Given the description of an element on the screen output the (x, y) to click on. 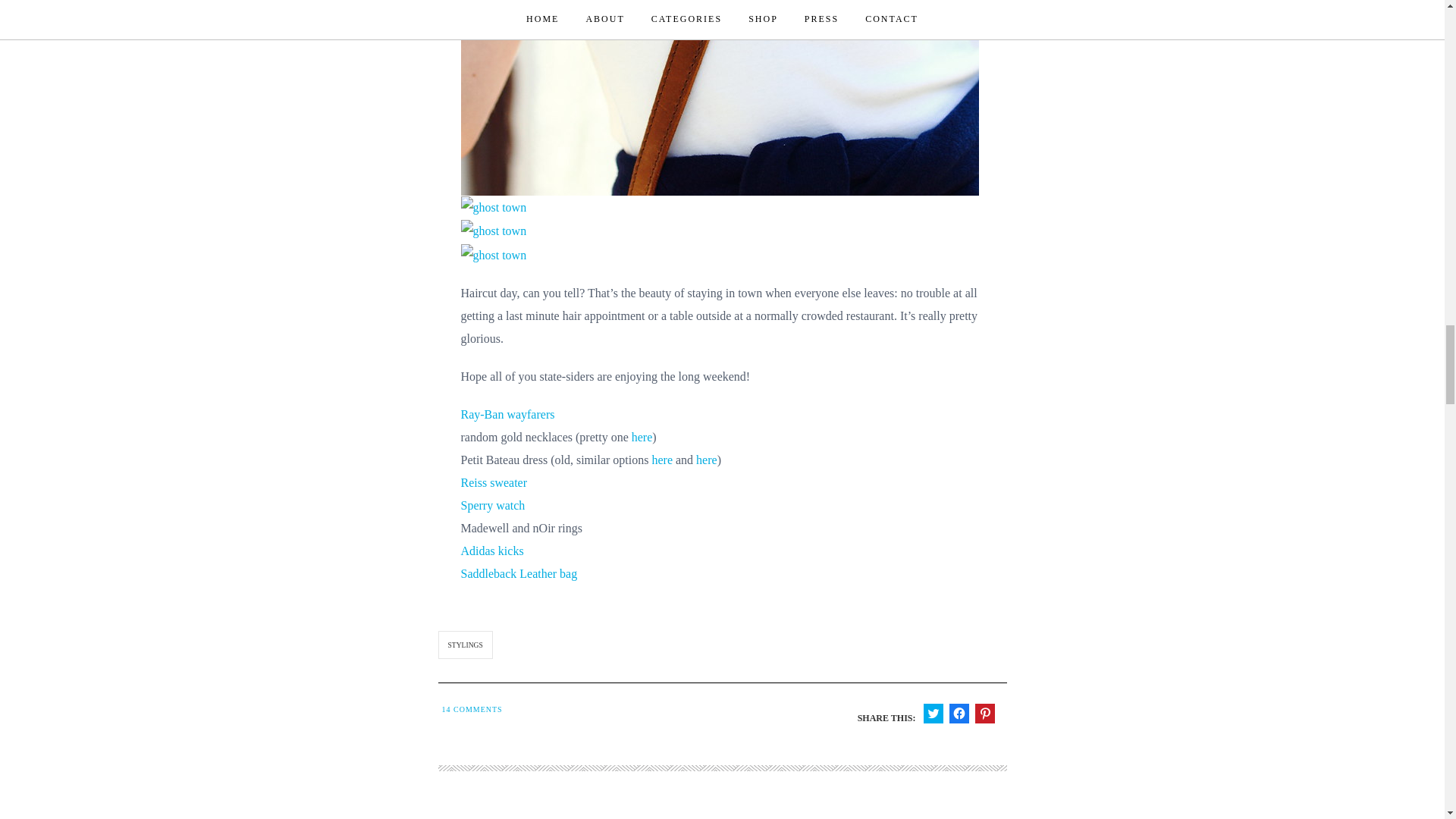
ghost town by districtofchic, on Flickr (494, 253)
Click to share on Twitter (933, 713)
Click to share on Facebook (959, 713)
ghost town by districtofchic, on Flickr (494, 229)
ghost town by districtofchic, on Flickr (494, 205)
Click to share on Pinterest (984, 713)
